Given the description of an element on the screen output the (x, y) to click on. 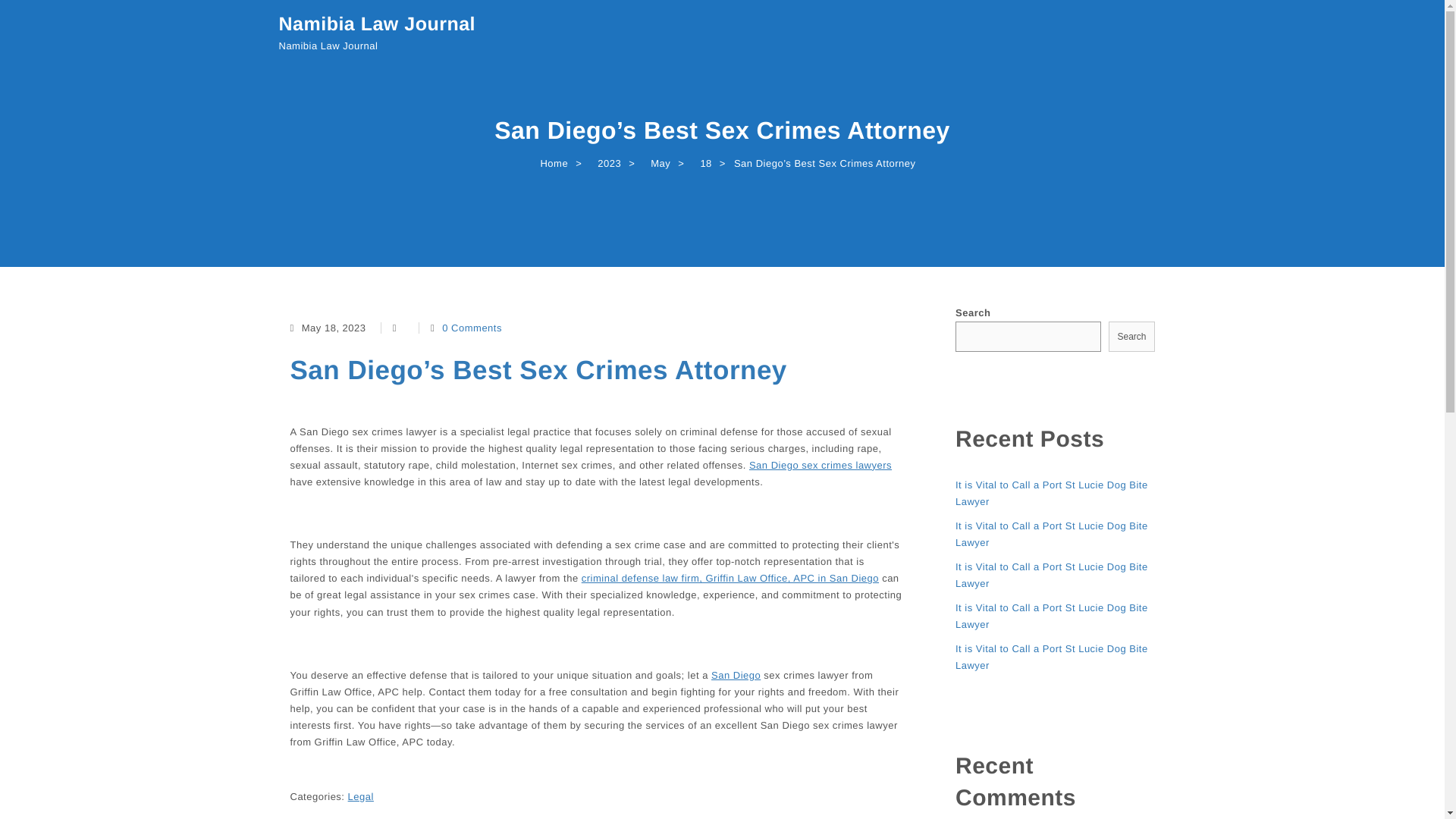
It is Vital to Call a Port St Lucie Dog Bite Lawyer (1054, 616)
San Diego (735, 675)
It is Vital to Call a Port St Lucie Dog Bite Lawyer (1054, 493)
Home (549, 163)
San Diego sex crimes lawyers (820, 465)
2023 (605, 163)
It is Vital to Call a Port St Lucie Dog Bite Lawyer (1054, 575)
Namibia Law Journal (377, 24)
Search (1131, 336)
Legal (360, 796)
0 Comments (472, 328)
May (656, 163)
18 (702, 163)
It is Vital to Call a Port St Lucie Dog Bite Lawyer (1054, 657)
